Given the description of an element on the screen output the (x, y) to click on. 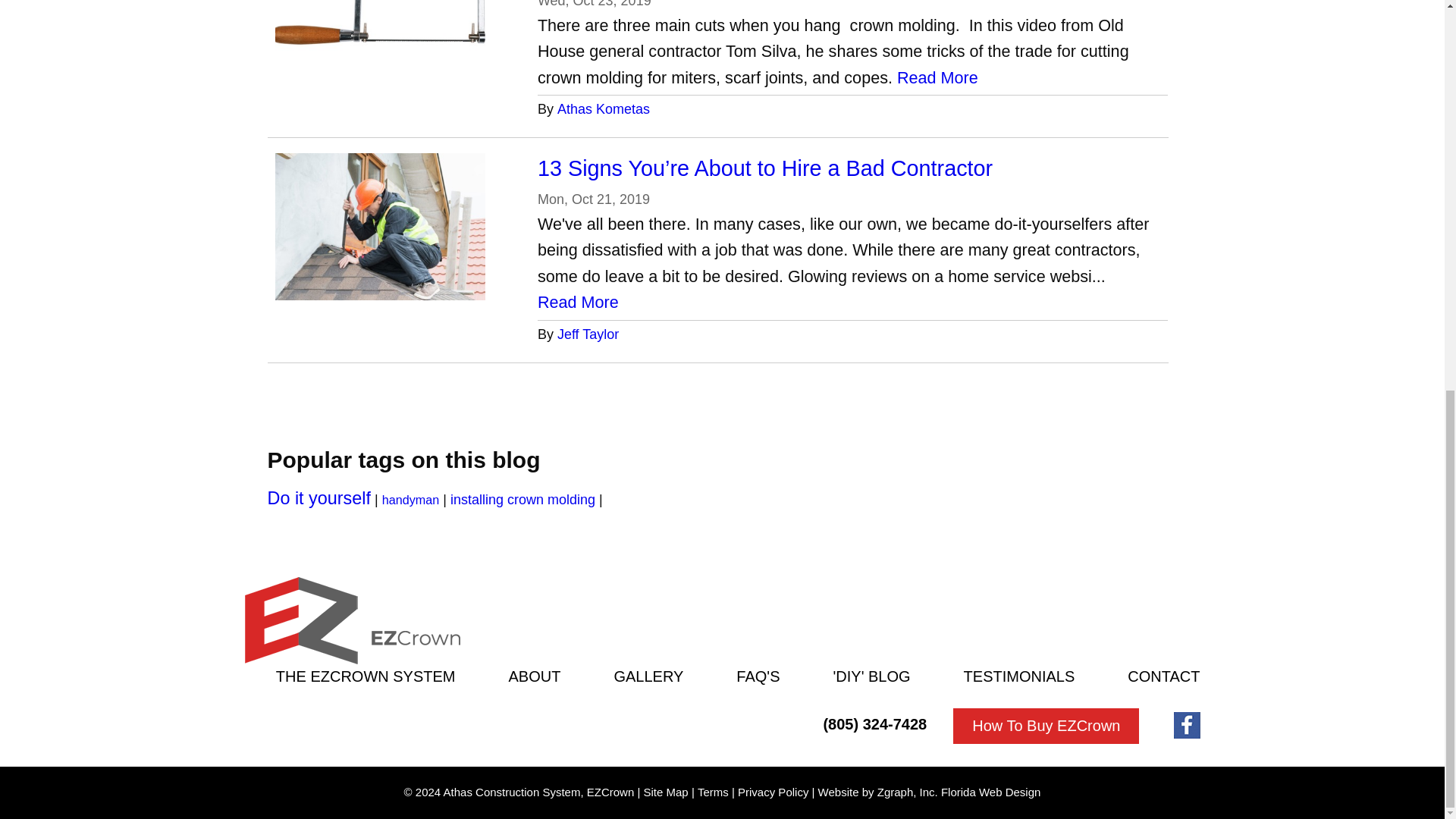
FAQ'S (757, 676)
'DIY' BLOG (871, 676)
Read More (937, 78)
Jeff Taylor (587, 334)
THE EZCROWN SYSTEM (365, 676)
handyman (410, 499)
TESTIMONIALS (1019, 676)
ABOUT (534, 676)
GALLERY (647, 676)
Read More (577, 302)
